Given the description of an element on the screen output the (x, y) to click on. 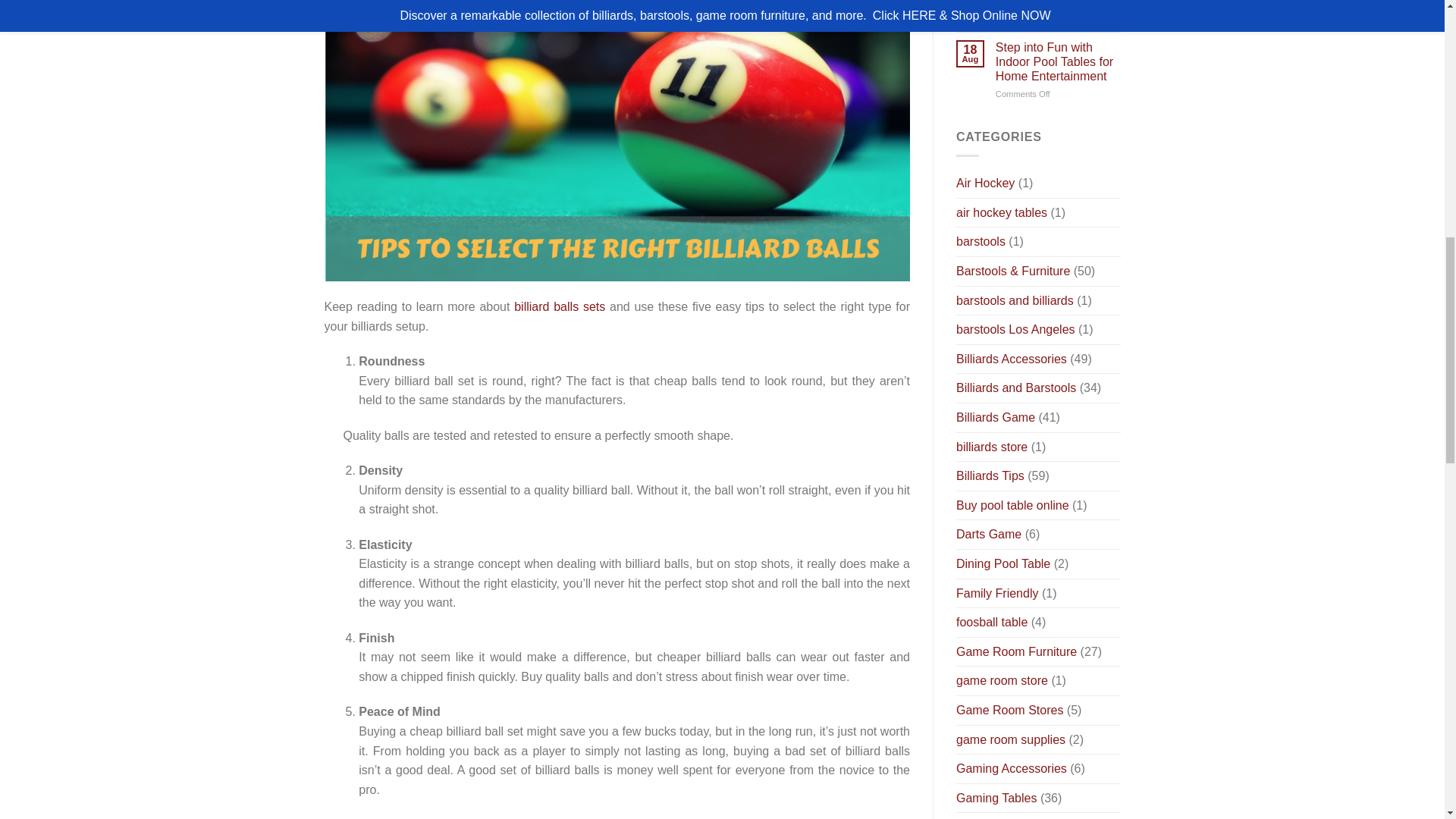
billiard balls sets (559, 306)
Step into Fun with Indoor Pool Tables for Home Entertainment (1058, 62)
Elevate Your Pool Skills with the Right Accessories (1058, 2)
